Given the description of an element on the screen output the (x, y) to click on. 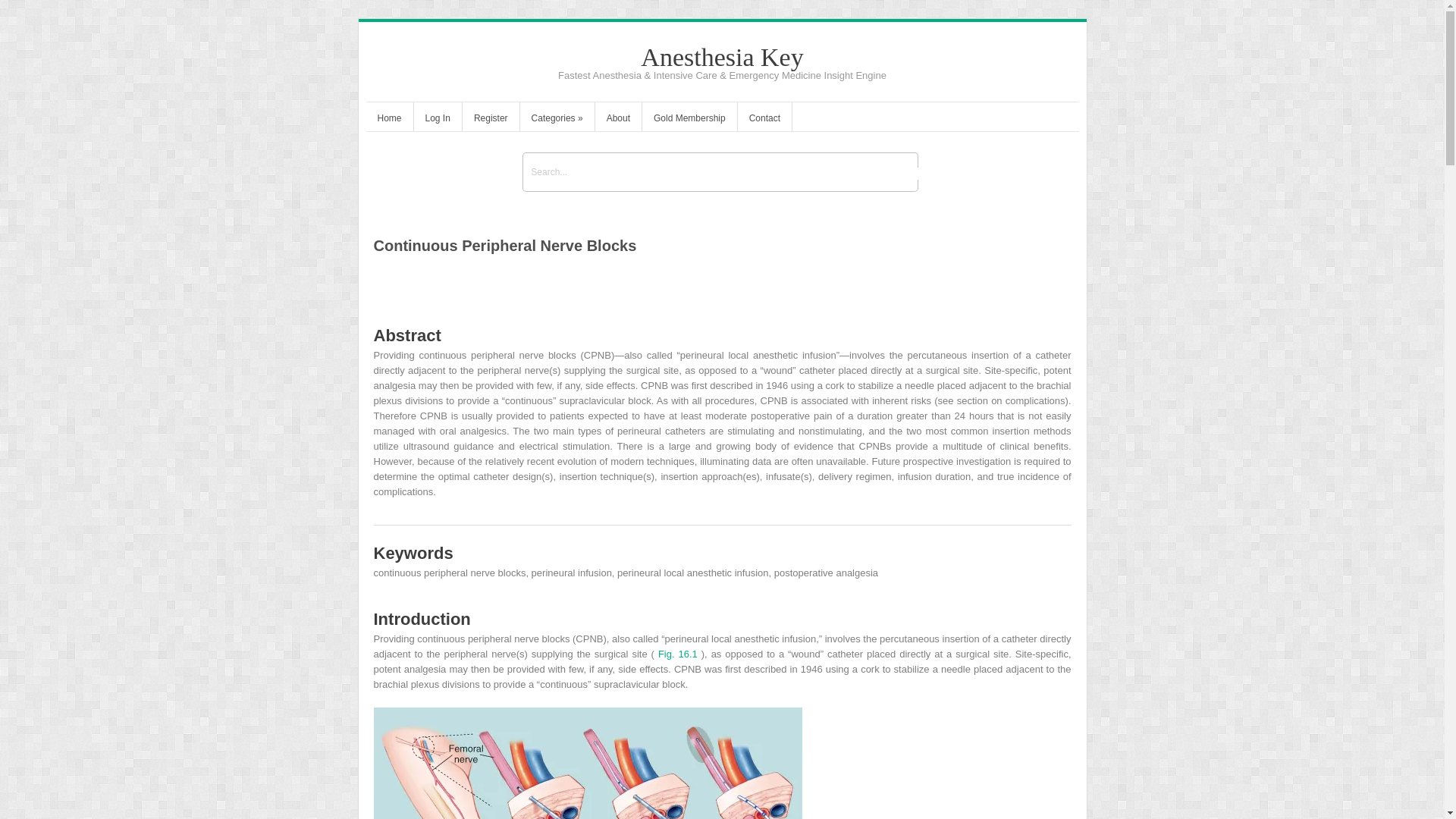
Register (491, 119)
Anesthesia Key (721, 57)
Anesthesia Key (721, 57)
Contact (765, 119)
Gold Membership (689, 119)
Log In (437, 119)
About (618, 119)
Home (388, 119)
